Given the description of an element on the screen output the (x, y) to click on. 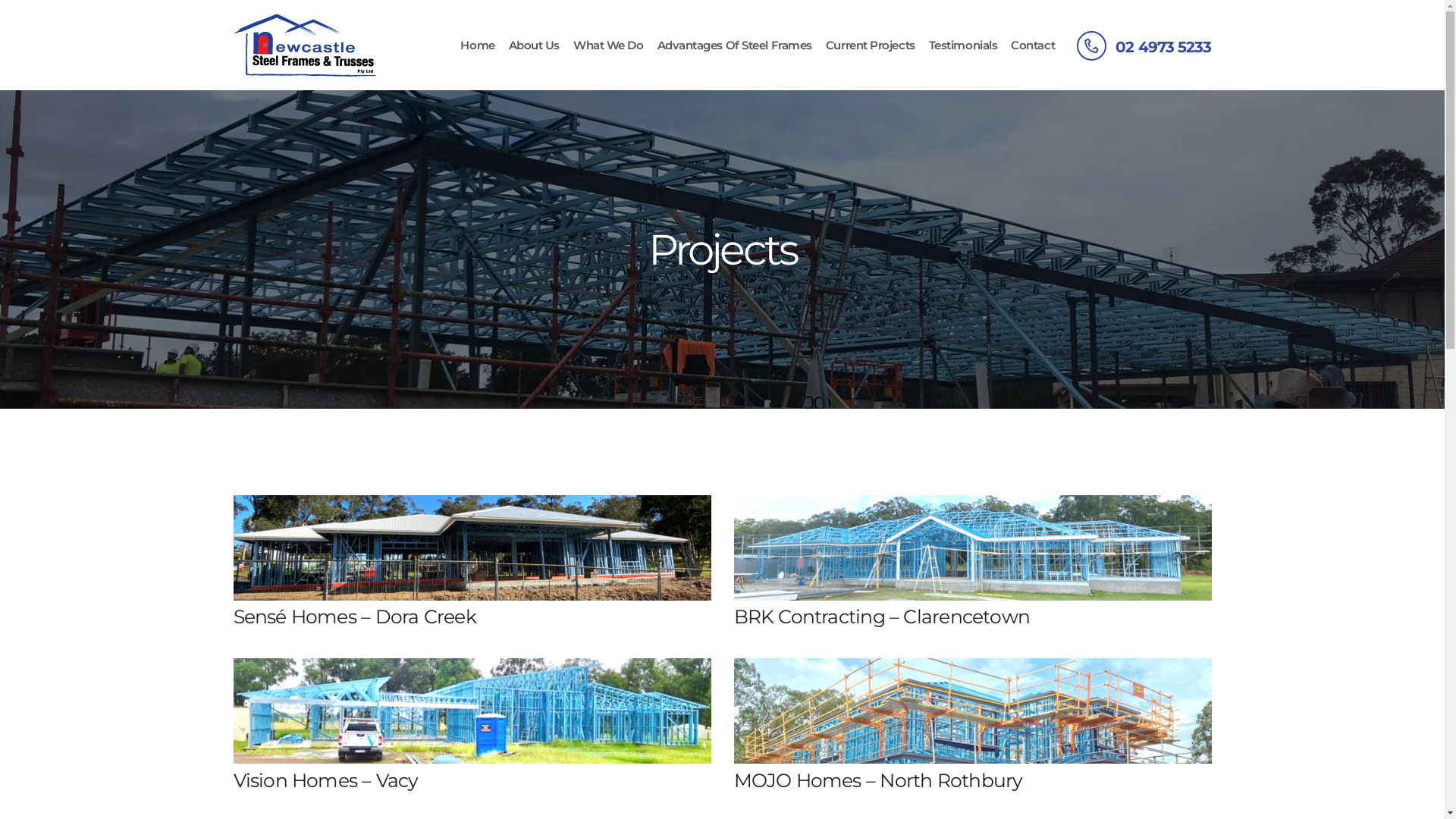
Home Element type: text (477, 45)
What We Do Element type: text (608, 45)
About Us Element type: text (534, 45)
02 4973 5233 Element type: text (1143, 44)
Contact Element type: text (1032, 45)
Current Projects Element type: text (870, 45)
Testimonials Element type: text (963, 45)
Advantages Of Steel Frames Element type: text (734, 45)
